Given the description of an element on the screen output the (x, y) to click on. 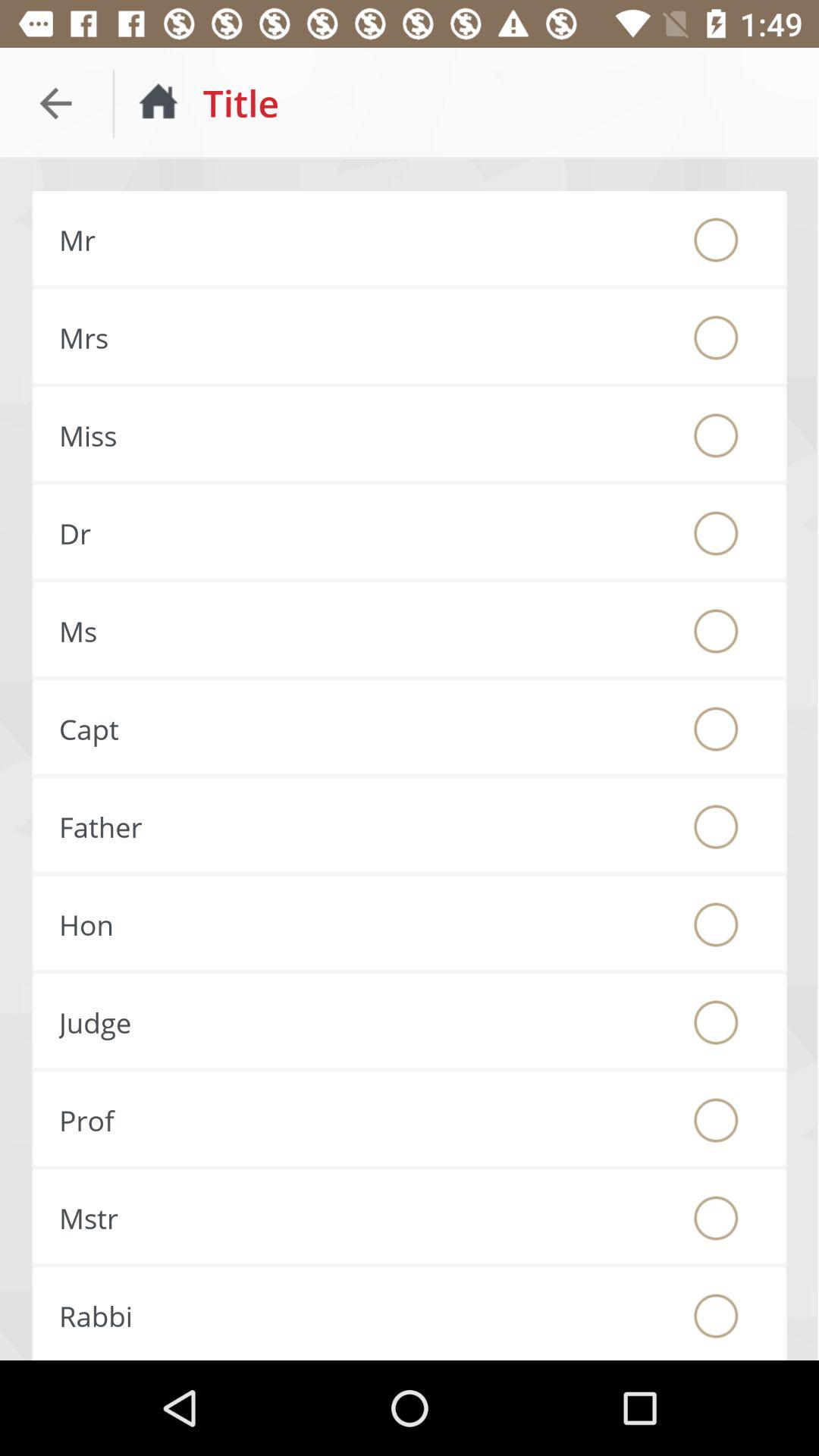
prefix honorable (715, 924)
